Given the description of an element on the screen output the (x, y) to click on. 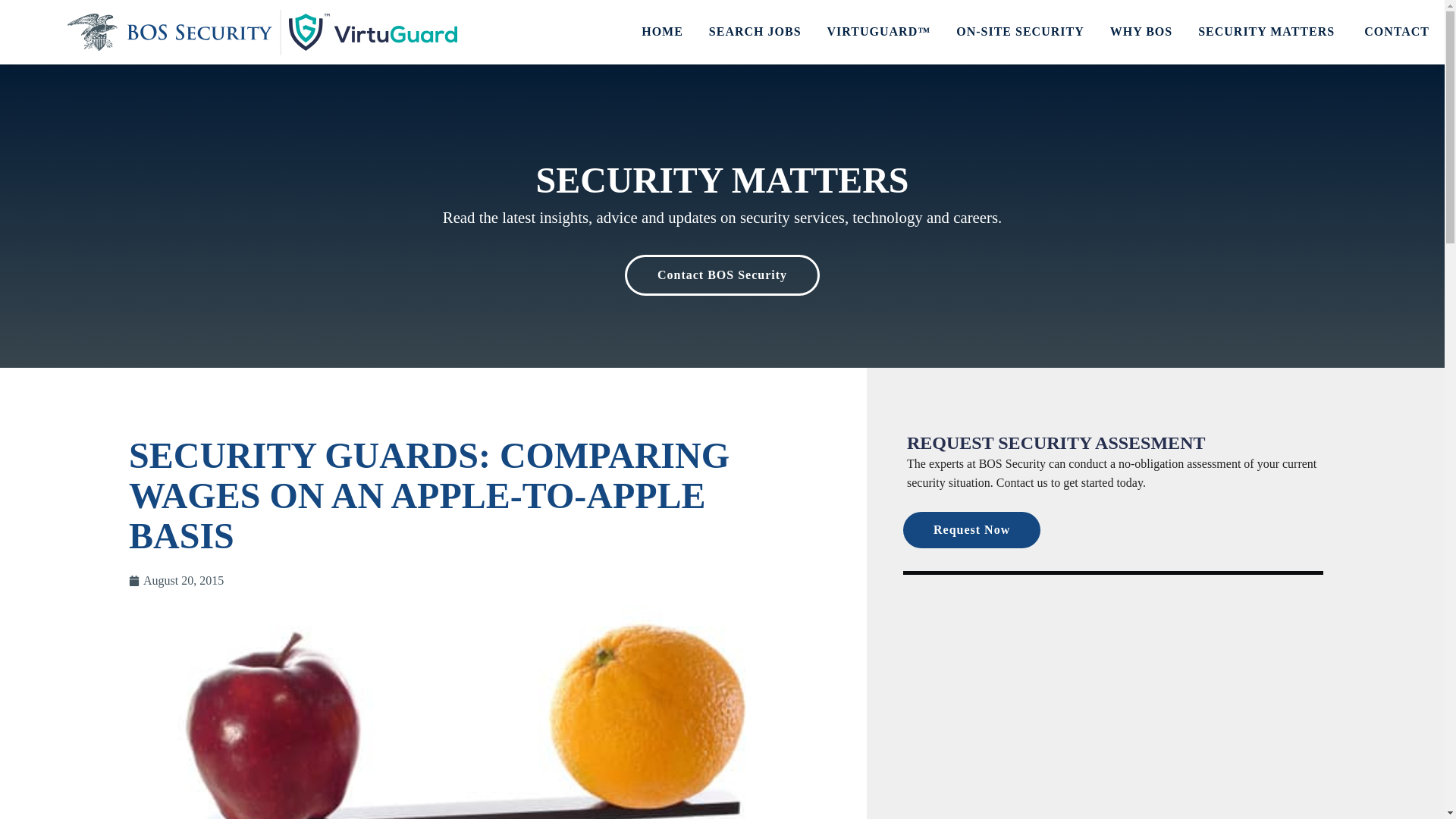
SECURITY MATTERS  (1268, 31)
CONTACT (1396, 31)
ON-SITE SECURITY (1019, 31)
WHY BOS (1140, 31)
SEARCH JOBS (755, 31)
